Given the description of an element on the screen output the (x, y) to click on. 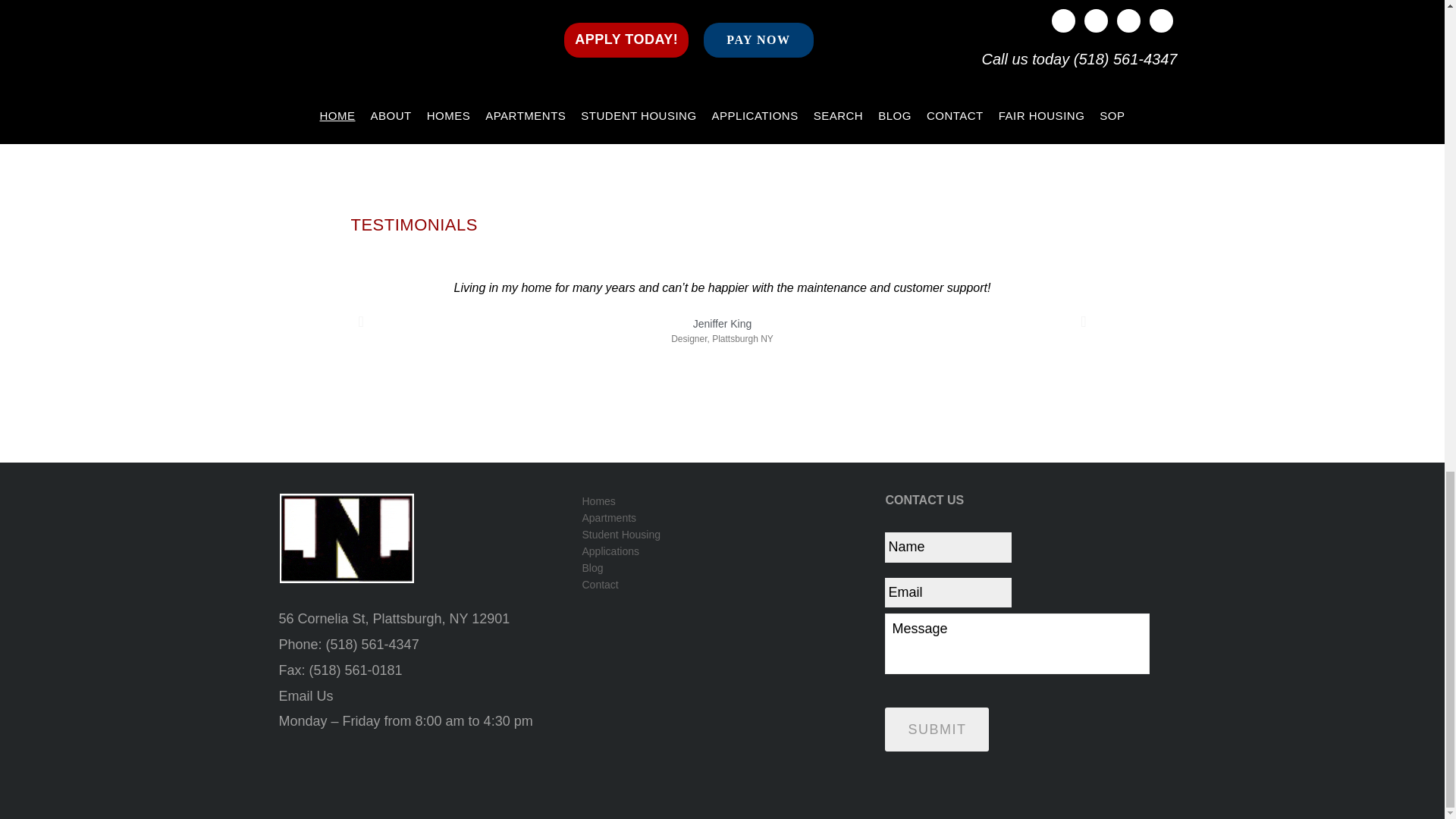
Applications (719, 550)
Submit (936, 728)
Homes (719, 501)
Apartments (719, 517)
Blog (719, 567)
APARTMENTS (722, 99)
Student Housing (719, 534)
STUDENT HOUSING (974, 125)
HOMES (469, 99)
Contact (719, 584)
